Given the description of an element on the screen output the (x, y) to click on. 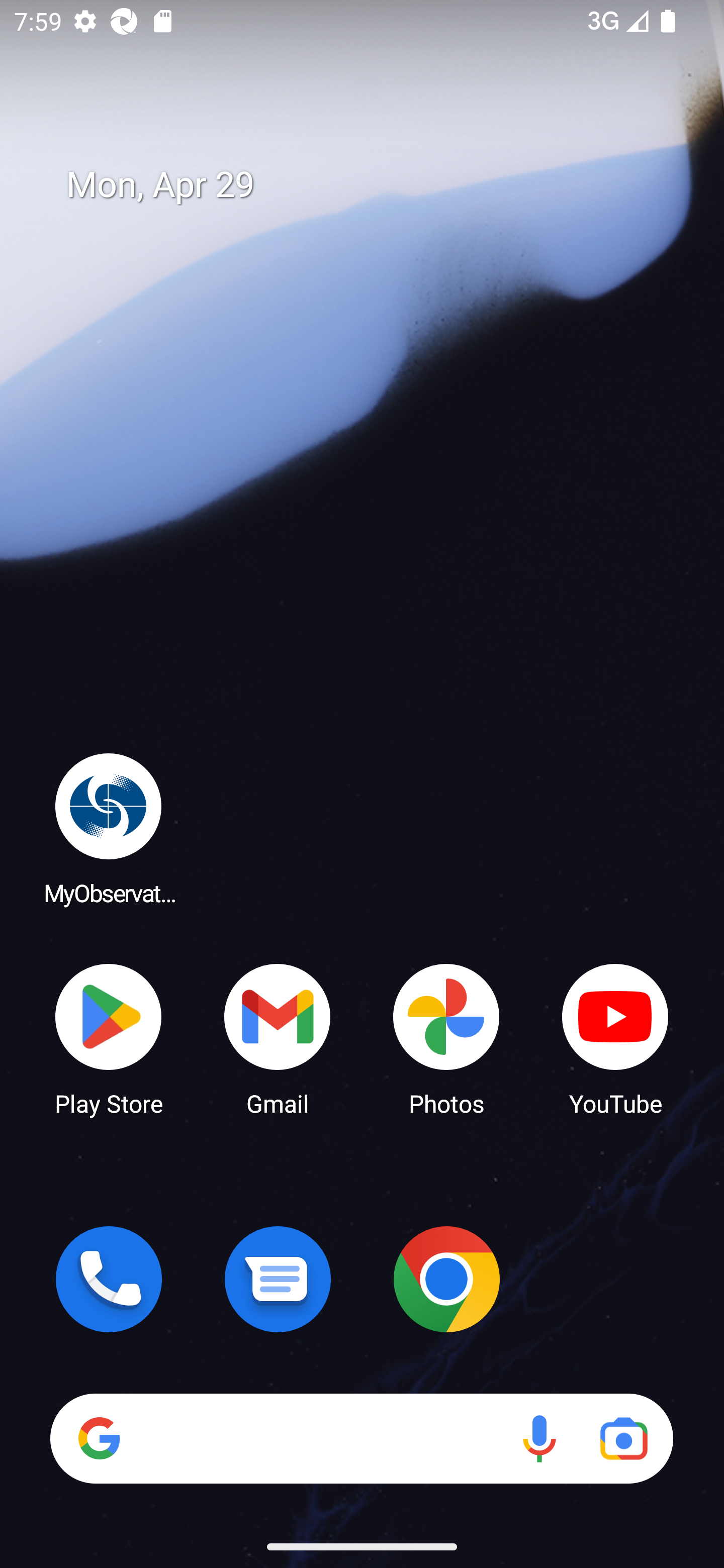
Mon, Apr 29 (375, 184)
MyObservatory (108, 828)
Play Store (108, 1038)
Gmail (277, 1038)
Photos (445, 1038)
YouTube (615, 1038)
Phone (108, 1279)
Messages (277, 1279)
Chrome (446, 1279)
Voice search (539, 1438)
Google Lens (623, 1438)
